Given the description of an element on the screen output the (x, y) to click on. 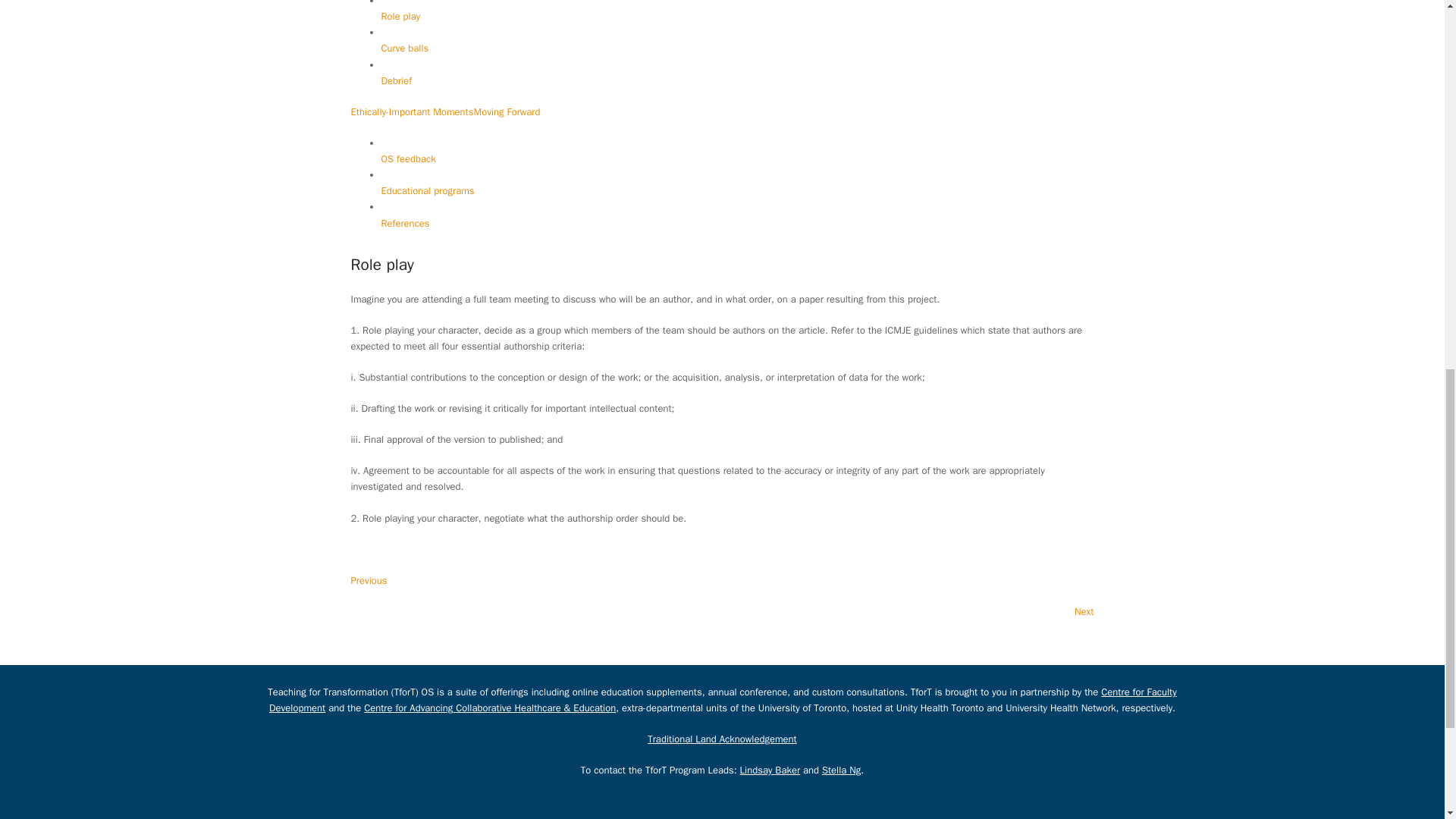
Scenario (399, 3)
Role play (400, 23)
